Given the description of an element on the screen output the (x, y) to click on. 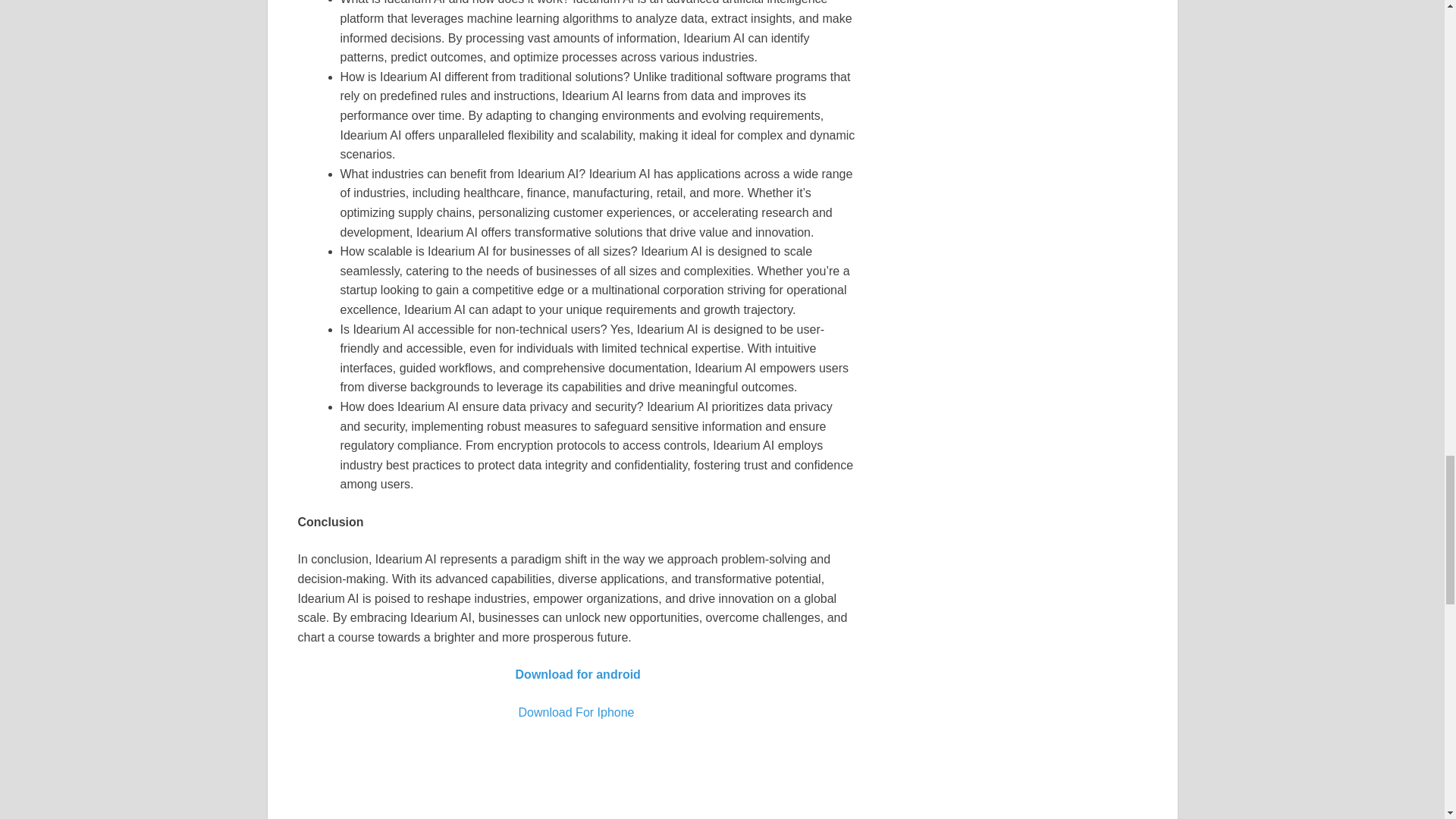
Download For Iphone (576, 712)
 Download for android (576, 674)
